Given the description of an element on the screen output the (x, y) to click on. 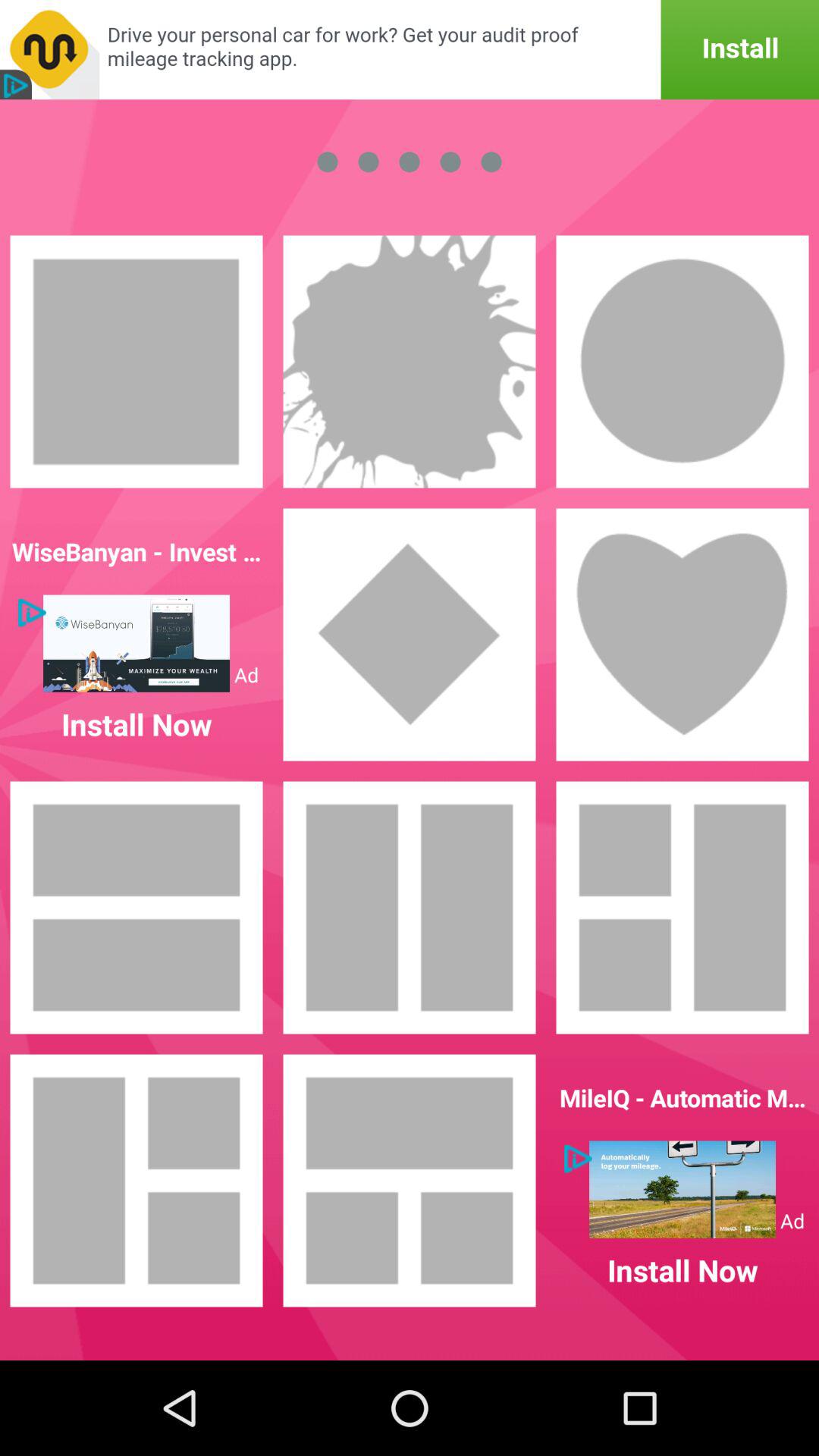
select rectangular portrait (409, 907)
